Given the description of an element on the screen output the (x, y) to click on. 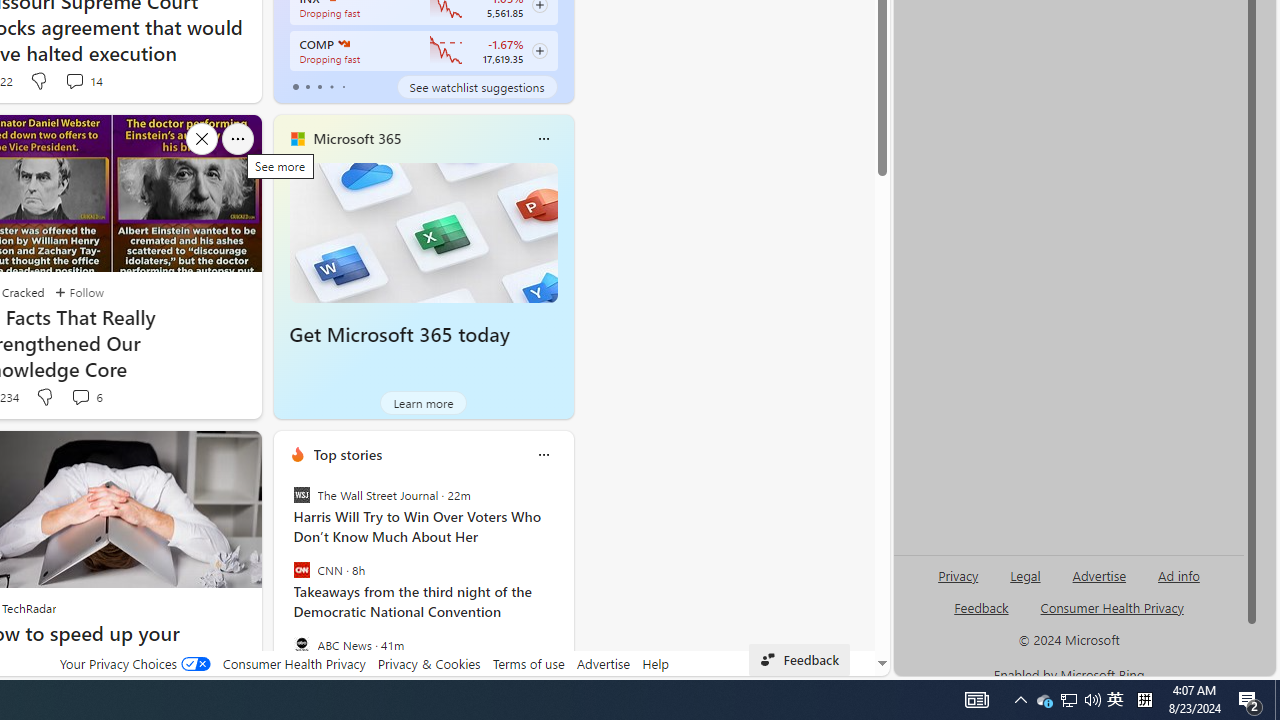
Get Microsoft 365 today (423, 232)
previous (283, 583)
NASDAQ (342, 43)
See watchlist suggestions (476, 86)
ABC News (301, 644)
tab-4 (342, 86)
View comments 14 Comment (74, 80)
Top stories (347, 454)
Get Microsoft 365 today (399, 335)
